Given the description of an element on the screen output the (x, y) to click on. 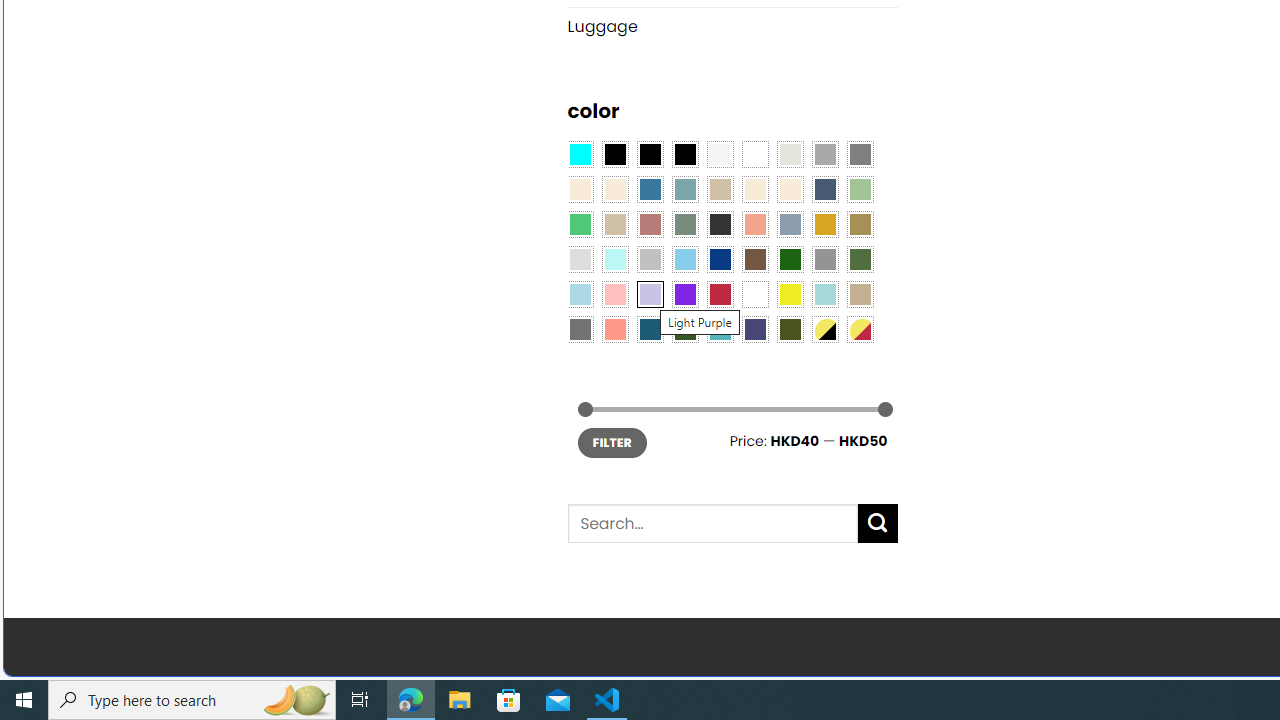
Dull Nickle (579, 329)
Luggage (732, 25)
Kelp (859, 224)
Hale Navy (824, 190)
Peach Pink (614, 329)
Purple Navy (755, 329)
Submit (877, 523)
FILTER (612, 442)
White (755, 295)
Capri Blue (650, 329)
Beige-Brown (614, 190)
All Black (614, 154)
Light Taupe (614, 224)
Mint (614, 259)
Charcoal (719, 224)
